Given the description of an element on the screen output the (x, y) to click on. 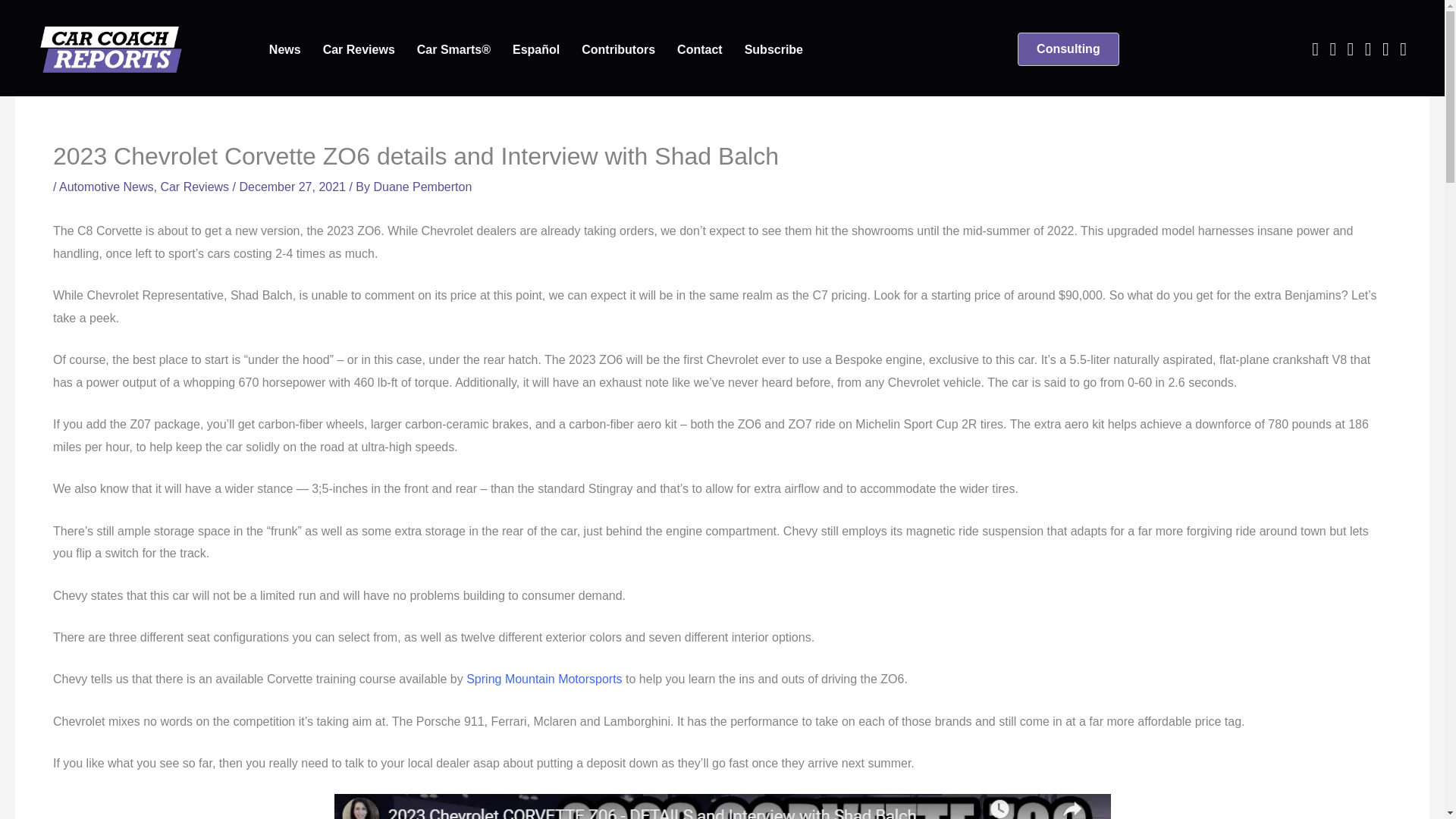
View all posts by Duane Pemberton (421, 186)
Contributors (617, 49)
News (285, 49)
Car Reviews (359, 49)
CCR LOGO NEW (110, 49)
Consulting (1068, 49)
Subscribe (773, 49)
Contact (699, 49)
